Given the description of an element on the screen output the (x, y) to click on. 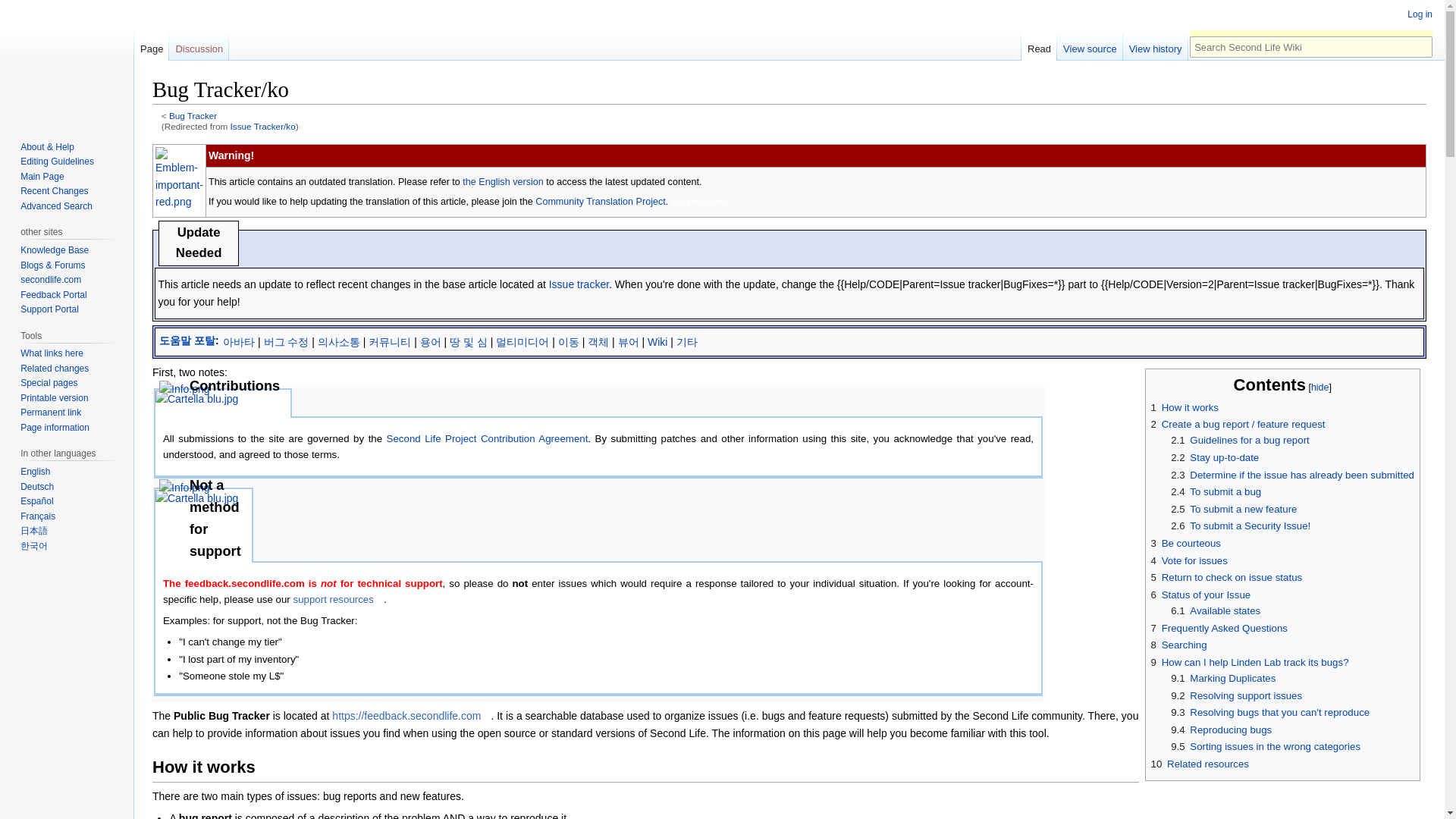
Warning! (815, 155)
Go (1420, 46)
2.2 Stay up-to-date (1214, 457)
6.1 Available states (1215, 610)
Issue tracker (578, 284)
Bug Tracker (192, 115)
the English version (503, 181)
Search (1420, 46)
Go (1420, 46)
2.1 Guidelines for a bug report (1239, 439)
6 Status of your Issue (1200, 594)
9.2 Resolving support issues (1235, 695)
Search (1420, 46)
3 Be courteous (1186, 542)
Bug Tracker (503, 181)
